Given the description of an element on the screen output the (x, y) to click on. 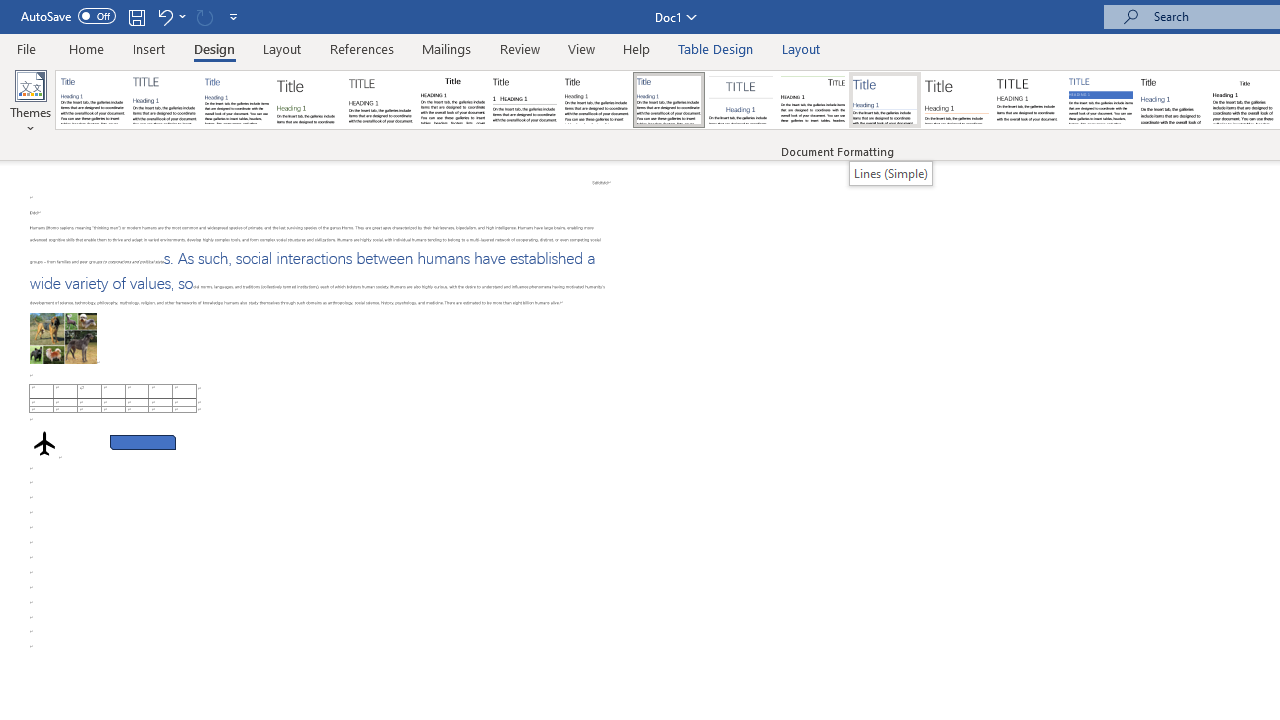
Black & White (Classic) (452, 100)
Lines (Distinctive) (812, 100)
Airplane with solid fill (43, 429)
Minimalist (1028, 100)
Black & White (Capitalized) (381, 100)
Word (1172, 100)
